Given the description of an element on the screen output the (x, y) to click on. 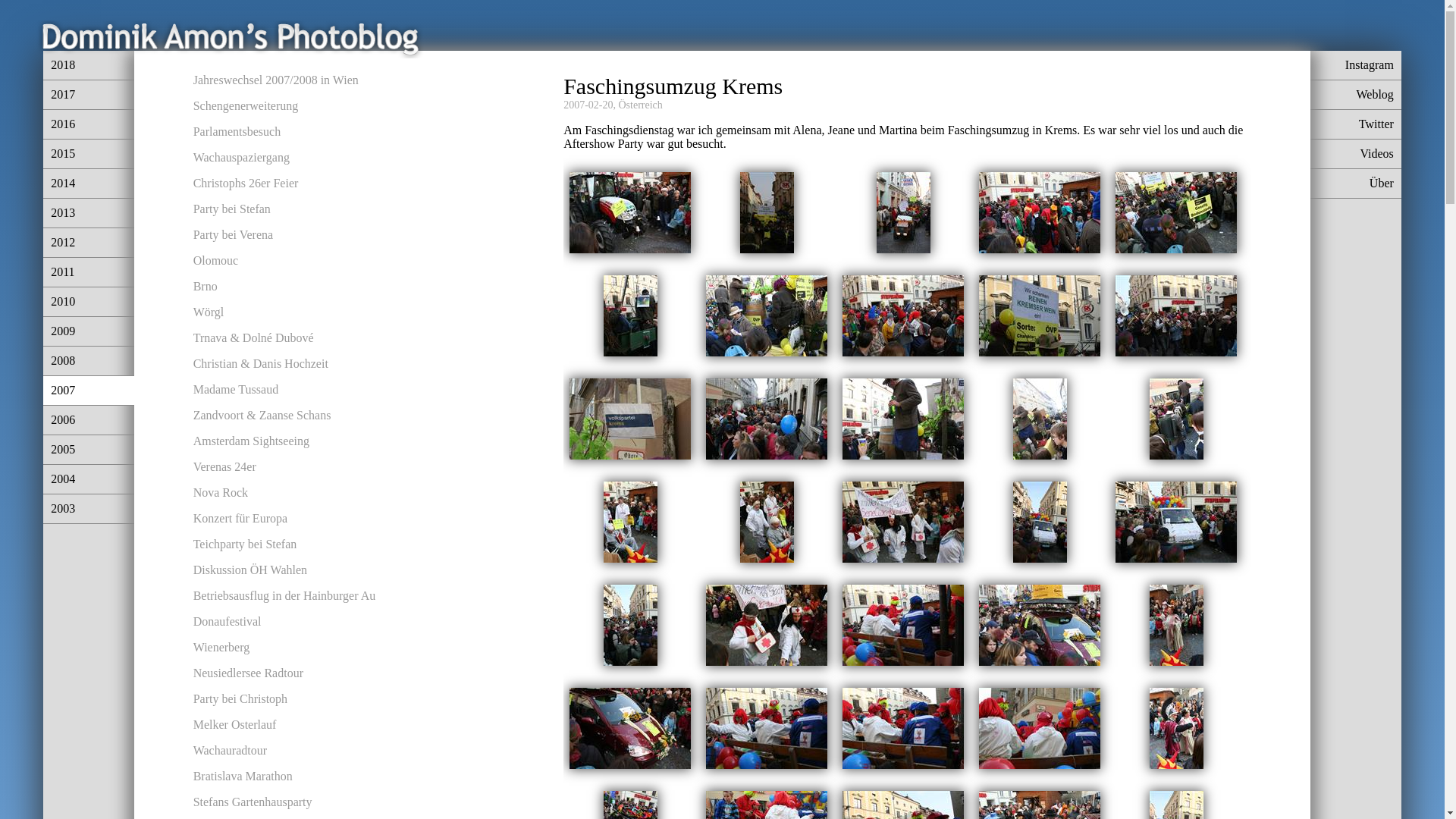
2012 Element type: text (88, 242)
Wienerberg Element type: text (221, 646)
Olomouc Element type: text (215, 260)
Amsterdam Sightseeing Element type: text (251, 440)
2007-02-20, Element type: text (589, 104)
Bratislava Marathon Element type: text (242, 775)
Verenas 24er Element type: text (224, 466)
Wachauspaziergang Element type: text (241, 156)
Party bei Verena Element type: text (233, 234)
Weblog Element type: text (1355, 94)
Zandvoort & Zaanse Schans Element type: text (262, 414)
2006 Element type: text (88, 420)
Brno Element type: text (205, 285)
Videos Element type: text (1355, 154)
2014 Element type: text (88, 183)
2007 Element type: text (88, 390)
Nova Rock Element type: text (220, 492)
Neusiedlersee Radtour Element type: text (248, 672)
2008 Element type: text (88, 361)
Wachauradtour Element type: text (229, 749)
Christophs 26er Feier Element type: text (245, 182)
Twitter Element type: text (1355, 124)
Betriebsausflug in der Hainburger Au Element type: text (284, 595)
Schengenerweiterung Element type: text (245, 105)
Instagram Element type: text (1355, 65)
Party bei Stefan Element type: text (231, 208)
2017 Element type: text (88, 94)
2018 Element type: text (88, 65)
2011 Element type: text (88, 272)
2003 Element type: text (88, 509)
Donaufestival Element type: text (227, 621)
2005 Element type: text (88, 449)
Parlamentsbesuch Element type: text (237, 131)
Stefans Gartenhausparty Element type: text (252, 801)
2016 Element type: text (88, 124)
Madame Tussaud Element type: text (235, 388)
2013 Element type: text (88, 213)
2015 Element type: text (88, 154)
2009 Element type: text (88, 331)
Melker Osterlauf Element type: text (234, 724)
2004 Element type: text (88, 479)
Christian & Danis Hochzeit Element type: text (260, 363)
Jahreswechsel 2007/2008 in Wien Element type: text (275, 79)
Teichparty bei Stefan Element type: text (245, 543)
Party bei Christoph Element type: text (240, 698)
2010 Element type: text (88, 301)
